Given the description of an element on the screen output the (x, y) to click on. 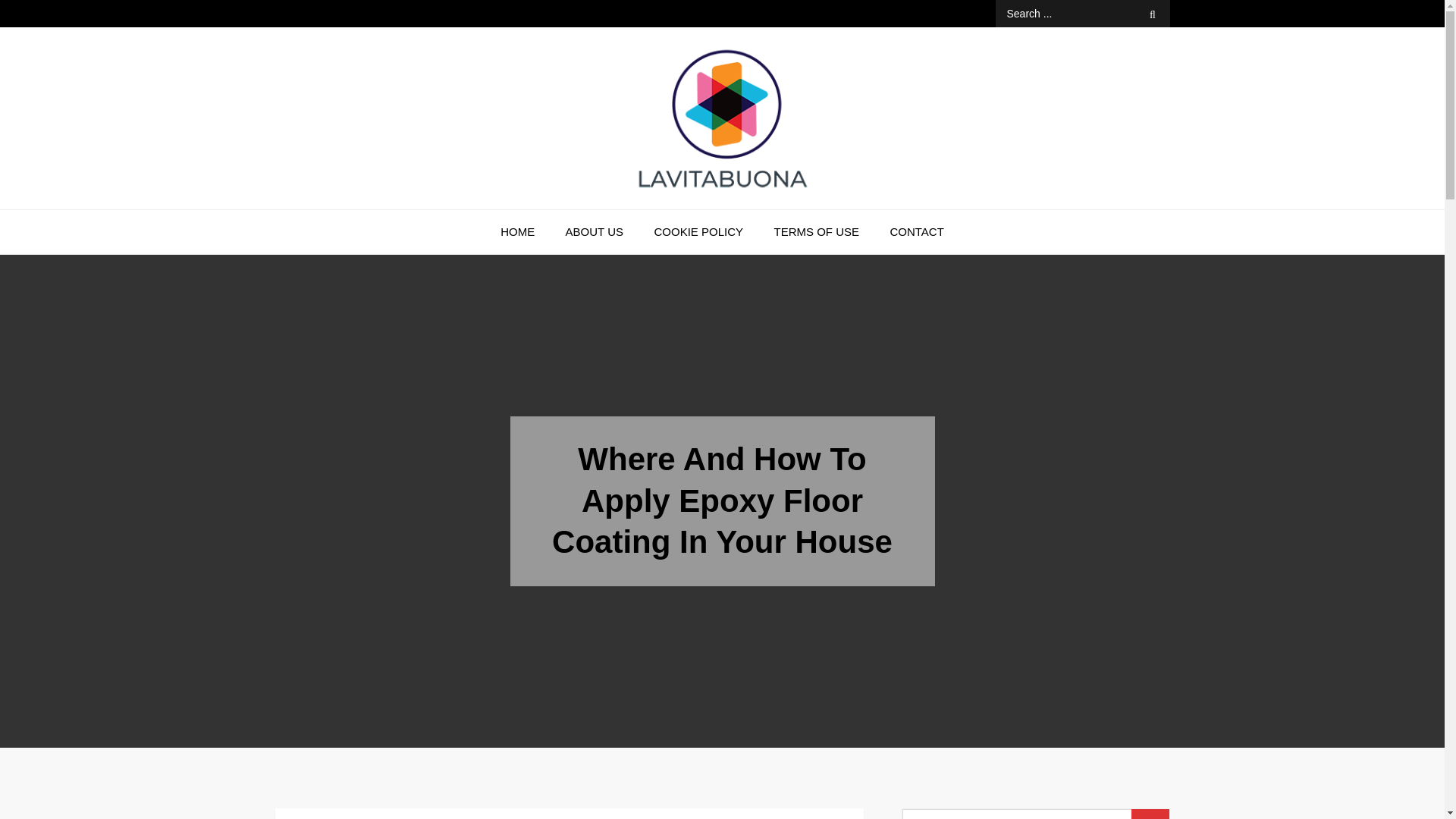
Search for: (1035, 814)
COOKIE POLICY (698, 231)
Search for: (1081, 13)
TERMS OF USE (816, 231)
Lavitabuona (368, 213)
ABOUT US (594, 231)
HOME (517, 231)
Search (1150, 814)
CONTACT (916, 231)
Search (1152, 13)
